Given the description of an element on the screen output the (x, y) to click on. 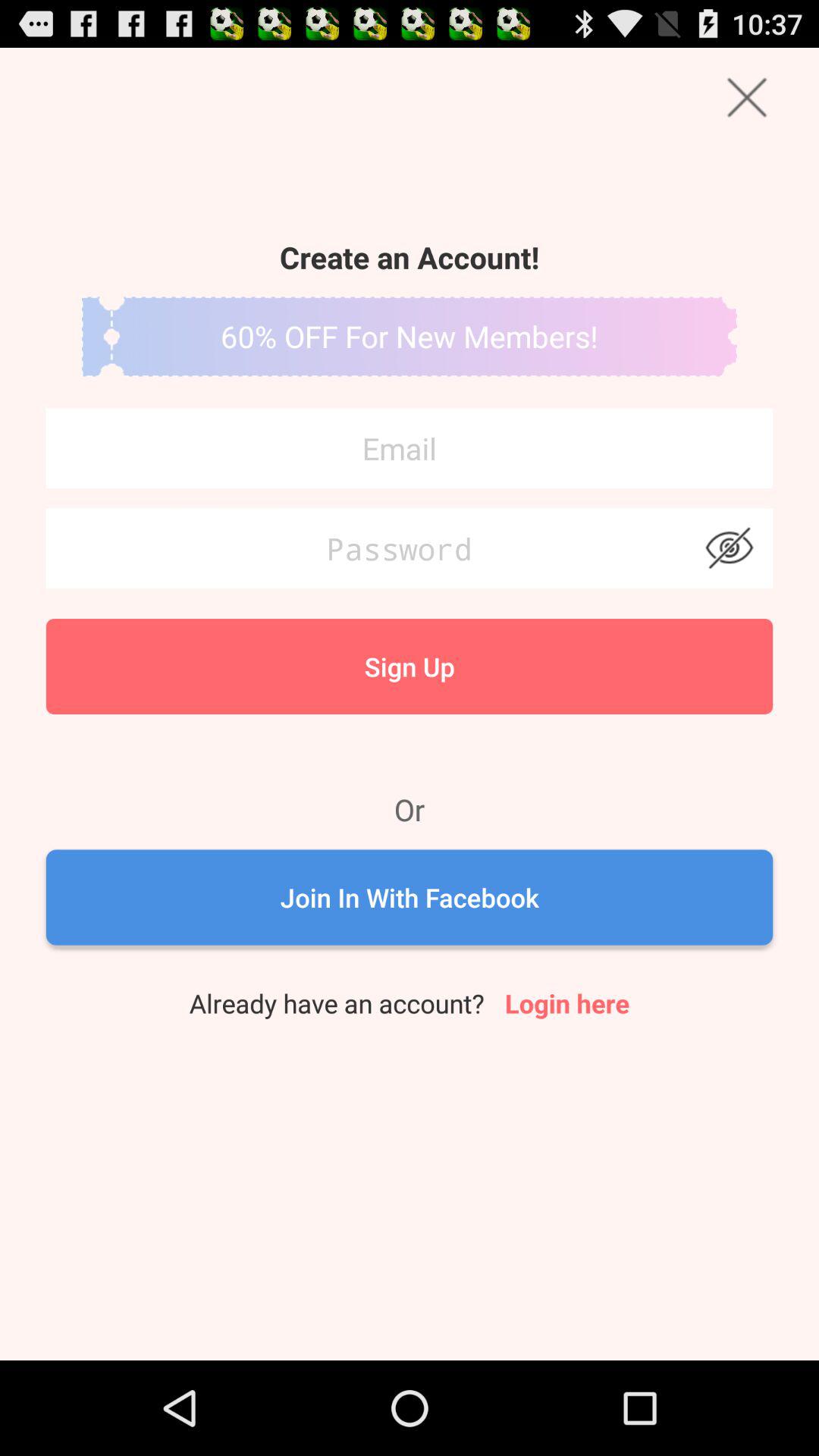
exit (746, 97)
